Given the description of an element on the screen output the (x, y) to click on. 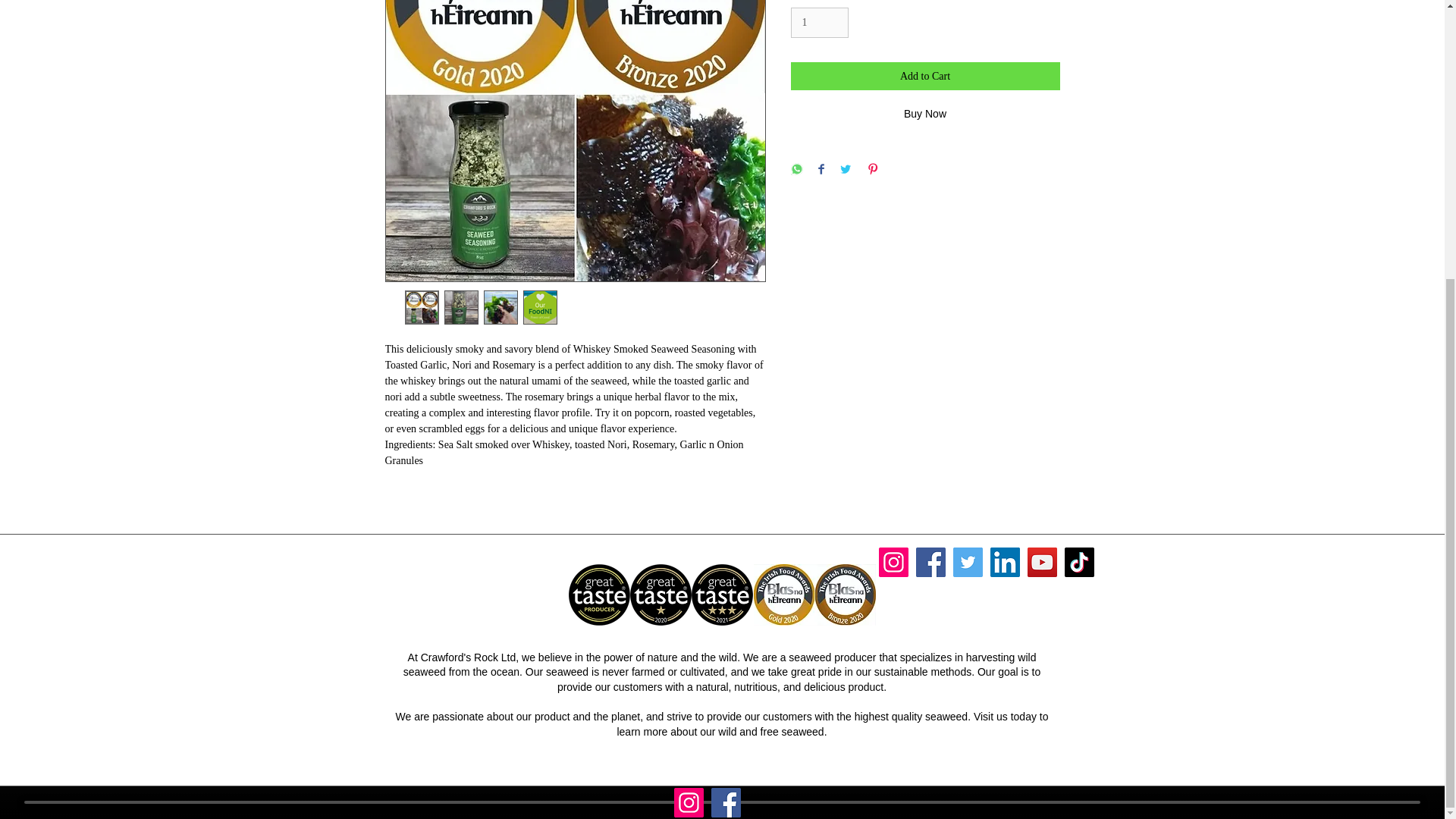
Buy Now (924, 114)
1 (818, 22)
3.png (659, 594)
Add to Cart (924, 76)
2.png (721, 594)
1.png (599, 594)
